Given the description of an element on the screen output the (x, y) to click on. 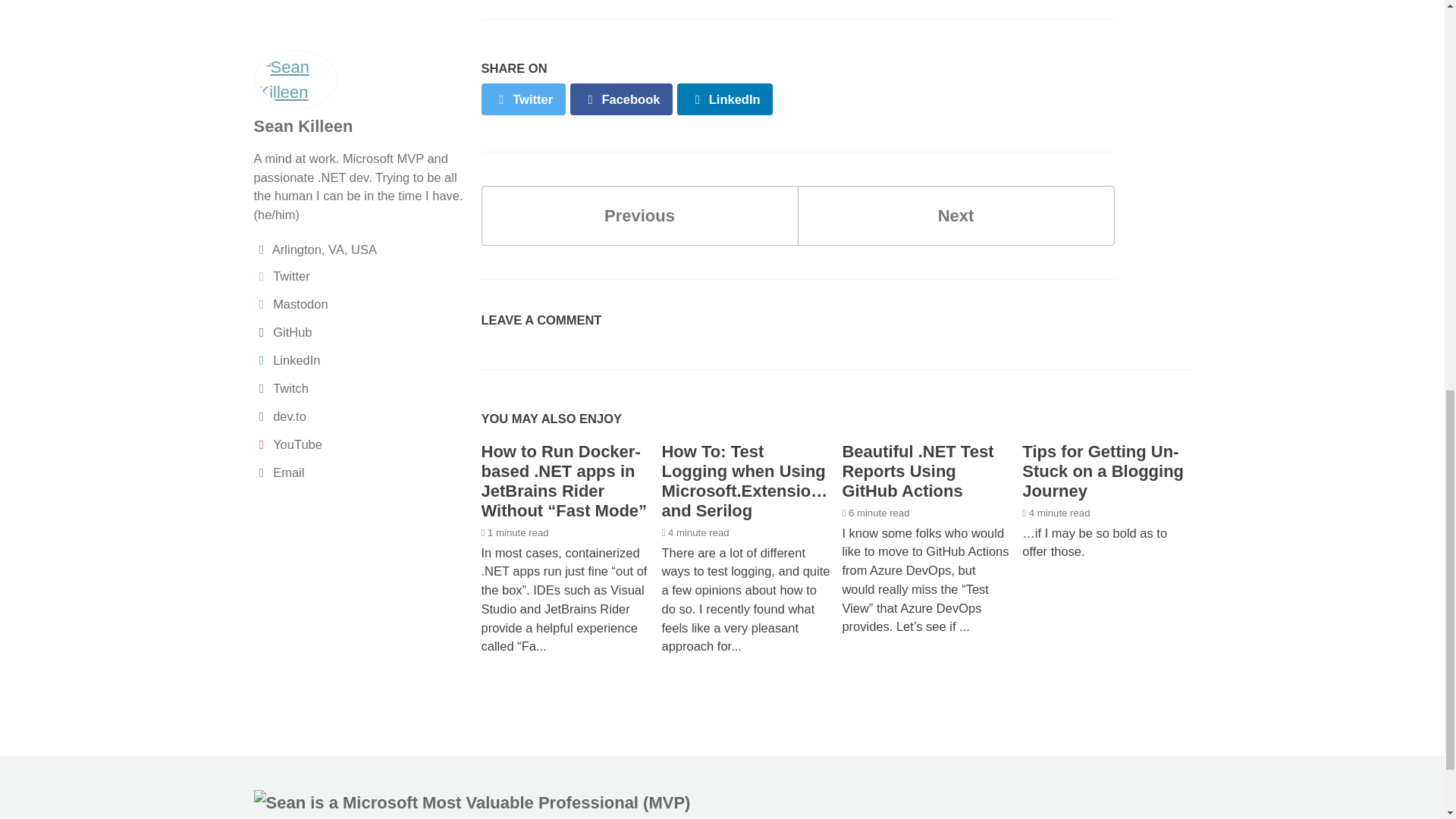
Next (956, 215)
Twitter (522, 98)
Share on LinkedIn (725, 98)
LinkedIn (725, 98)
Share on Facebook (621, 98)
Tips for Getting Un-Stuck on a Blogging Journey (1102, 471)
Previous (638, 215)
Facebook (638, 215)
